Given the description of an element on the screen output the (x, y) to click on. 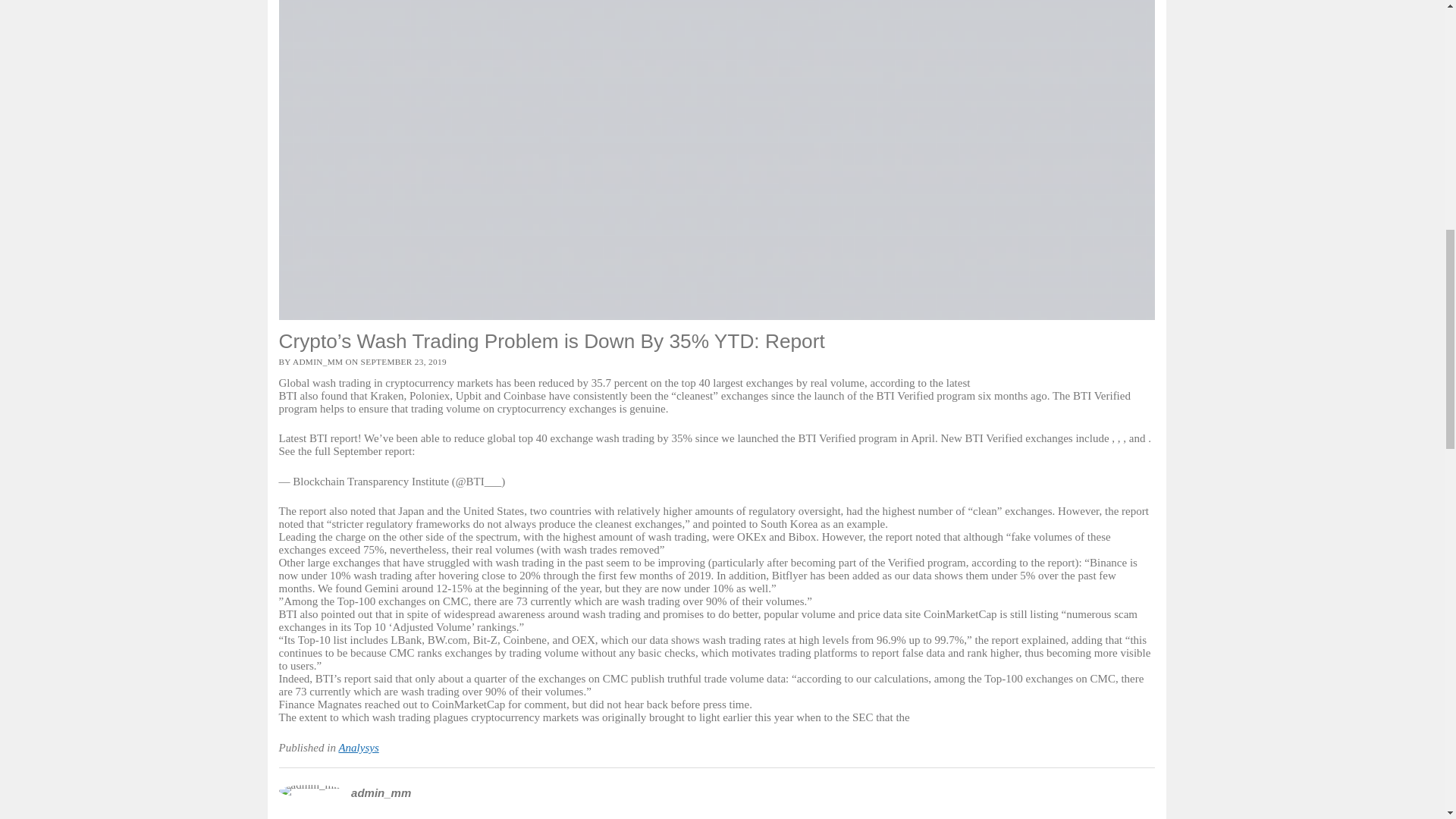
View all posts in Analysys (357, 747)
